Given the description of an element on the screen output the (x, y) to click on. 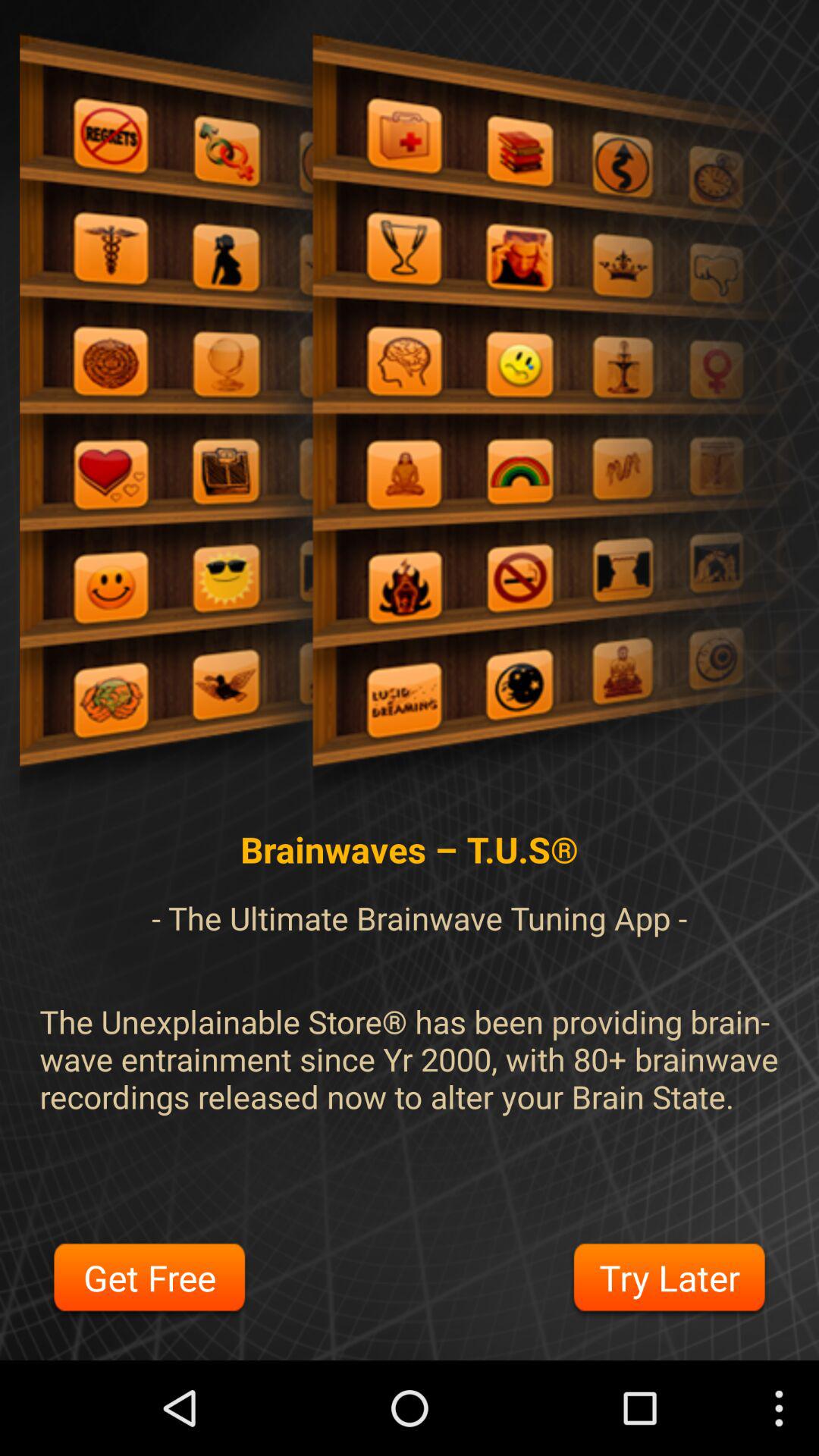
open get free button (149, 1280)
